Given the description of an element on the screen output the (x, y) to click on. 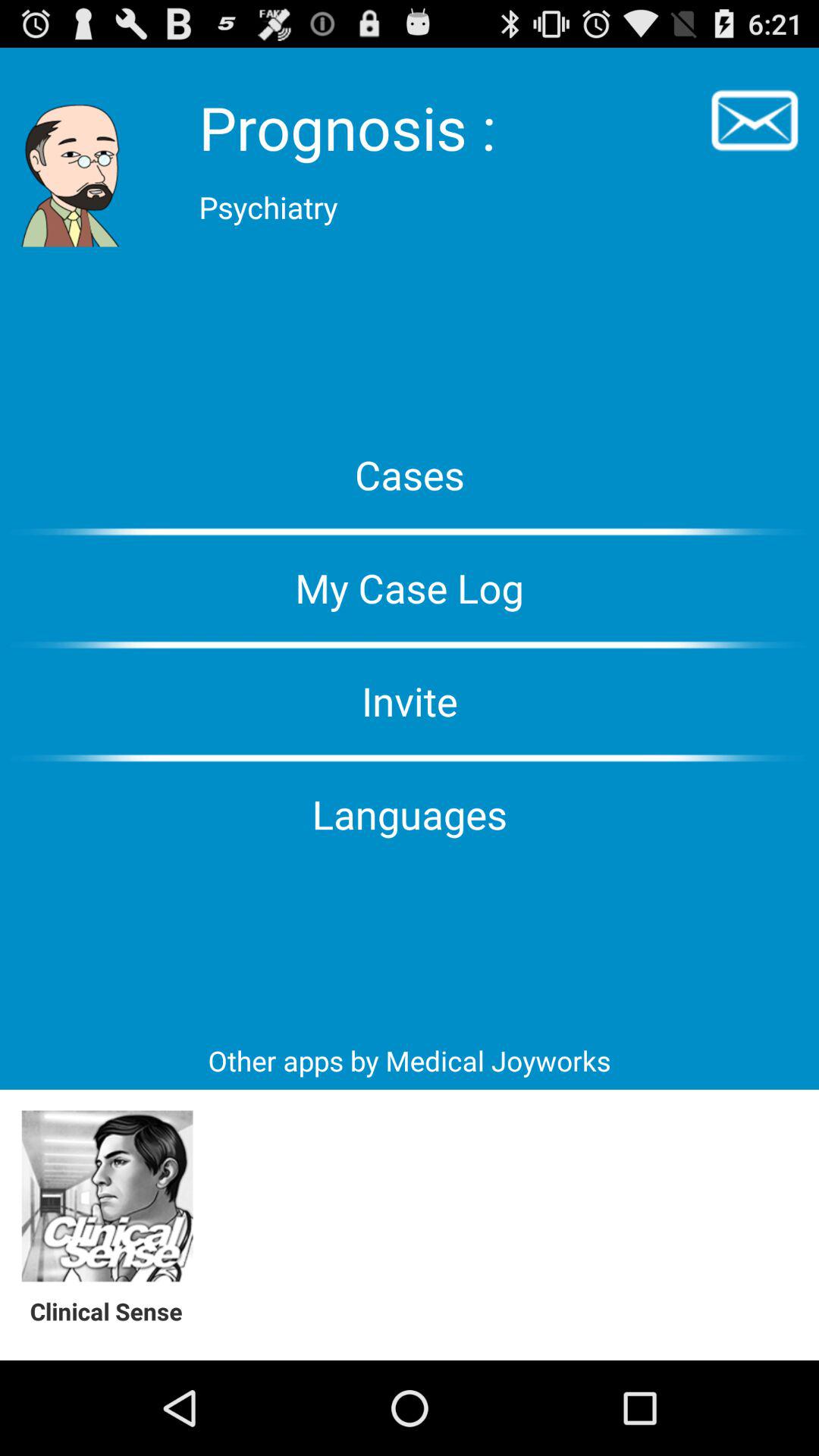
swipe until the languages icon (409, 813)
